Given the description of an element on the screen output the (x, y) to click on. 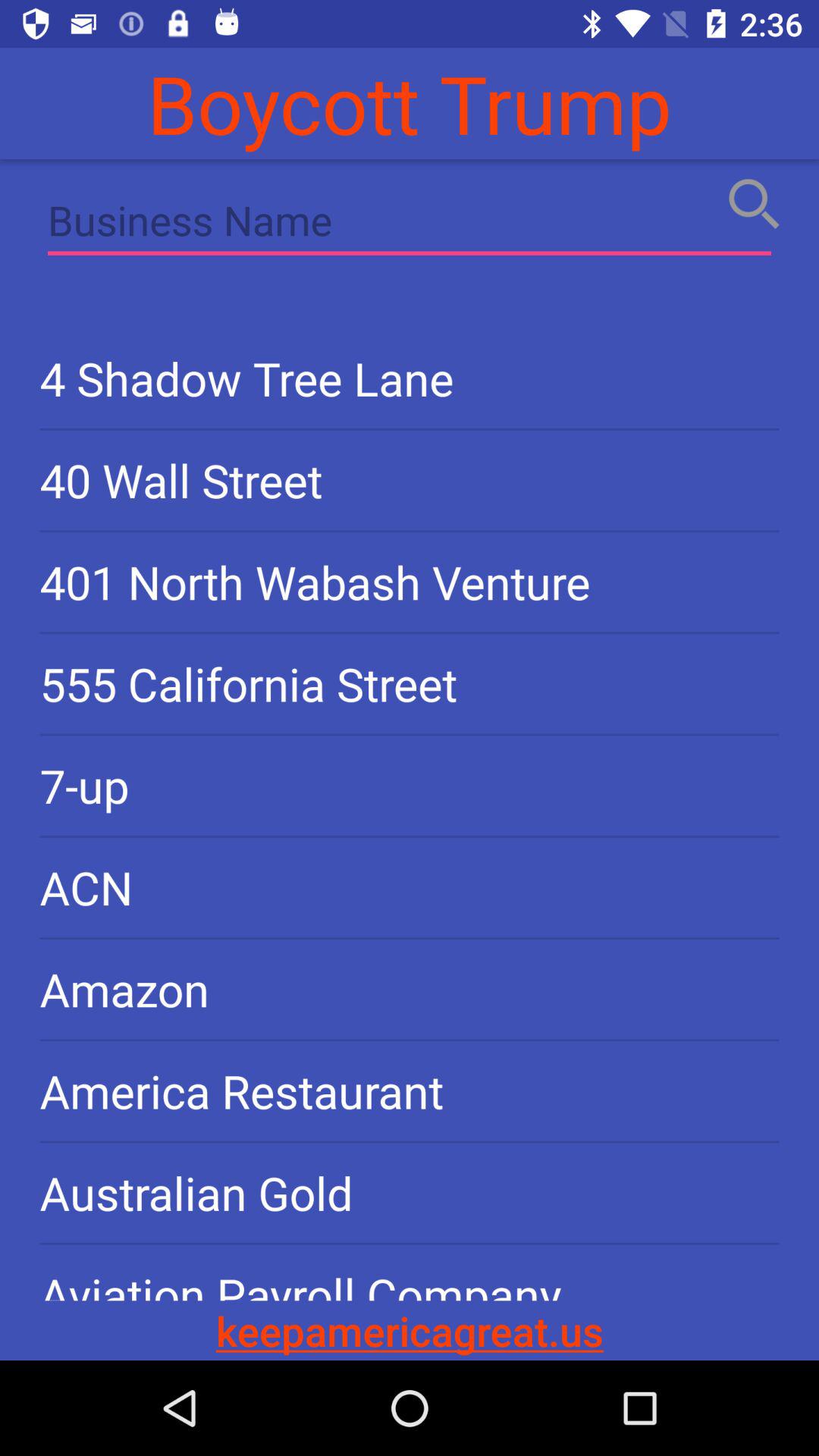
tap 401 north wabash icon (409, 581)
